Given the description of an element on the screen output the (x, y) to click on. 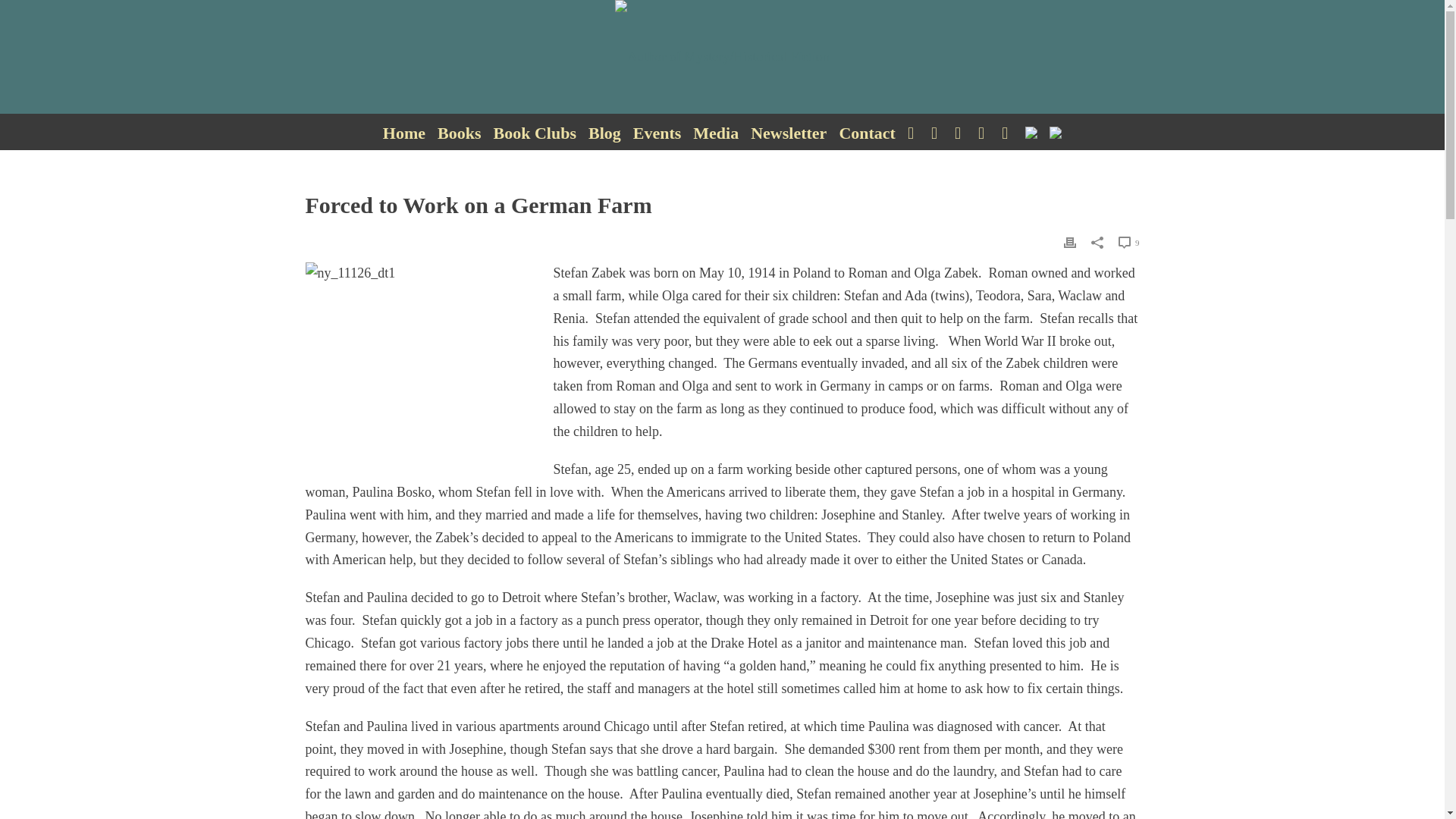
Media (715, 132)
Events (657, 132)
Michelle Cox Author (721, 56)
Book Clubs (534, 132)
Contact (866, 132)
Newsletter (788, 132)
Blog (604, 132)
Book Clubs (534, 132)
Books (458, 132)
Events (657, 132)
